Given the description of an element on the screen output the (x, y) to click on. 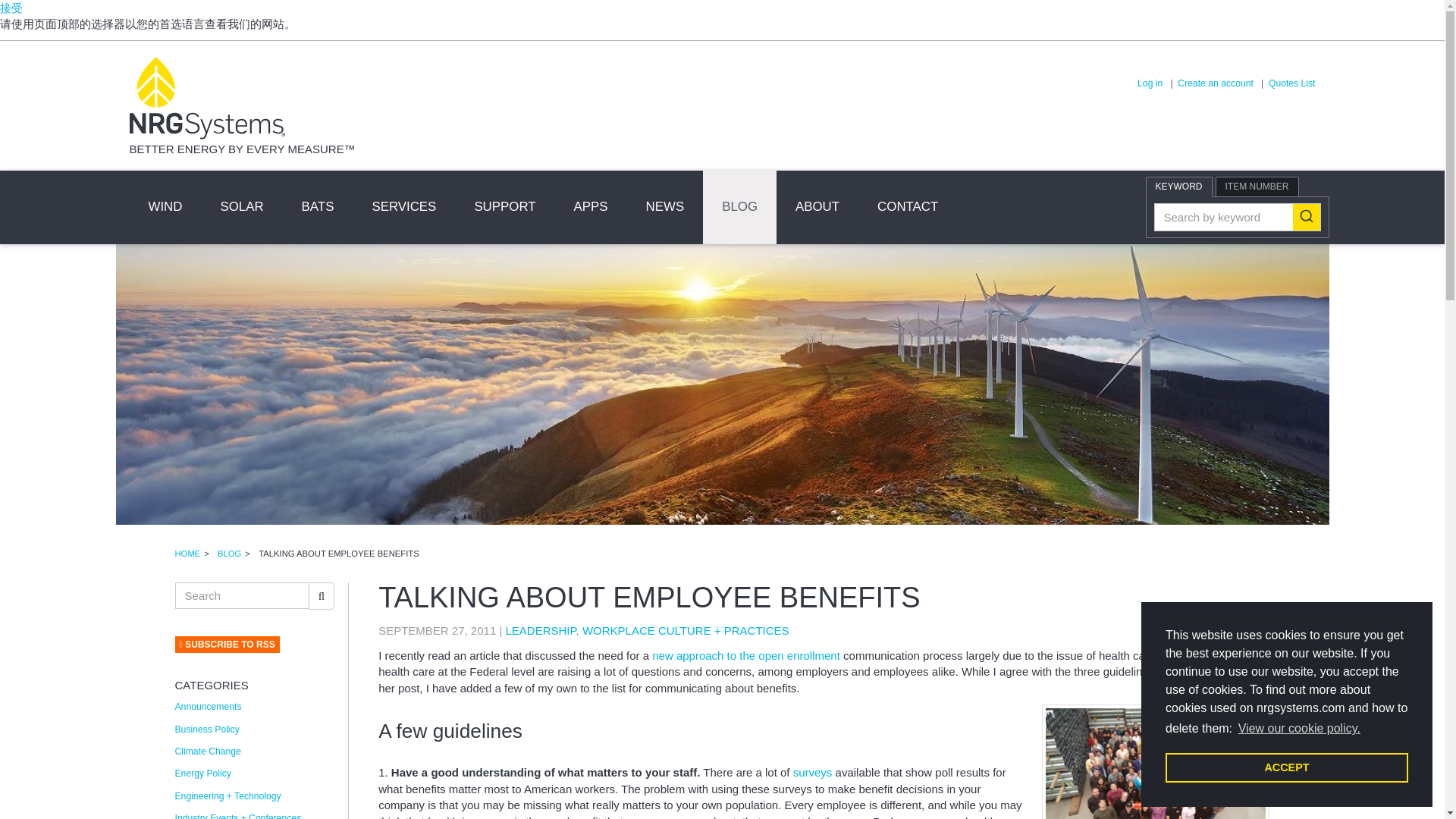
Log in (1149, 82)
Quotes List (1292, 82)
Leadership (540, 630)
Submit (1305, 216)
View our cookie policy. (1299, 728)
SOLAR (241, 207)
NRG Systems (206, 98)
Create an account (1214, 82)
WIND (164, 207)
Employees of NRG Systems, 2010 group shot (1155, 761)
ACCEPT (1286, 767)
